Given the description of an element on the screen output the (x, y) to click on. 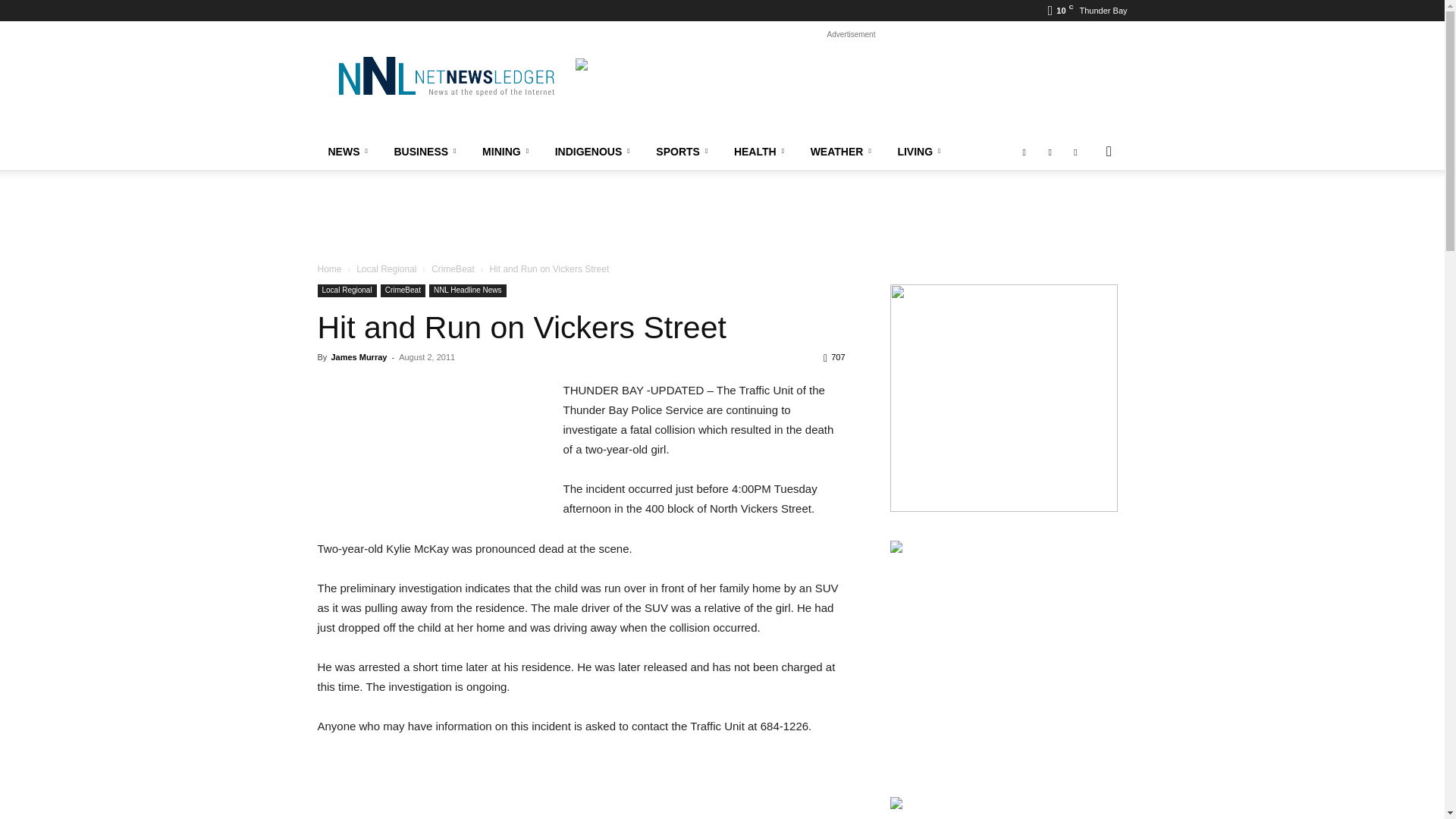
View all posts in CrimeBeat (452, 268)
View all posts in Local Regional (386, 268)
NetNewsLedger (445, 76)
North Star Air (850, 92)
